Given the description of an element on the screen output the (x, y) to click on. 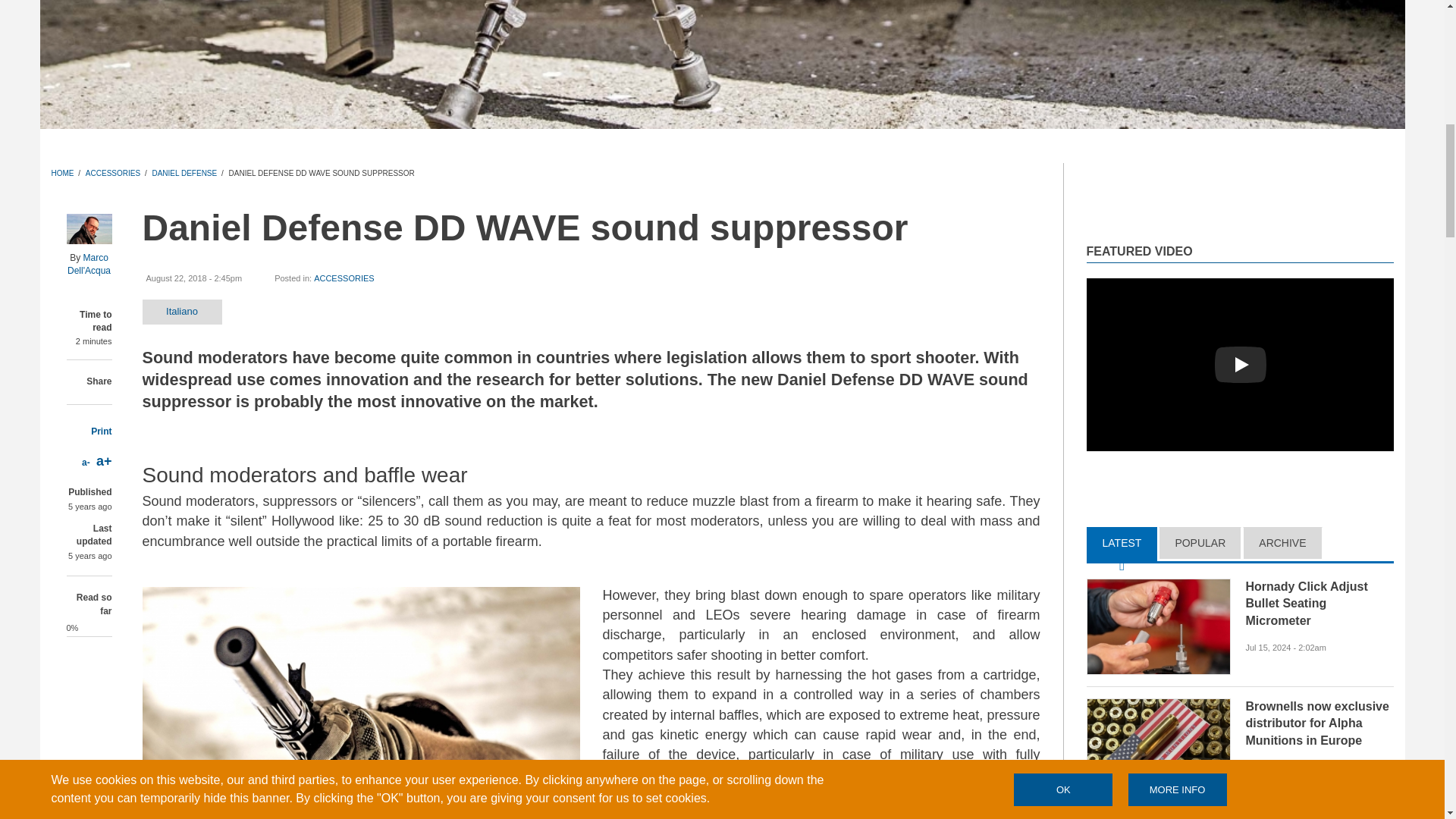
DANIEL DEFENSE (183, 172)
Marco Dell'Acqua (88, 264)
ACCESSORIES (112, 172)
HOME (62, 172)
